Given the description of an element on the screen output the (x, y) to click on. 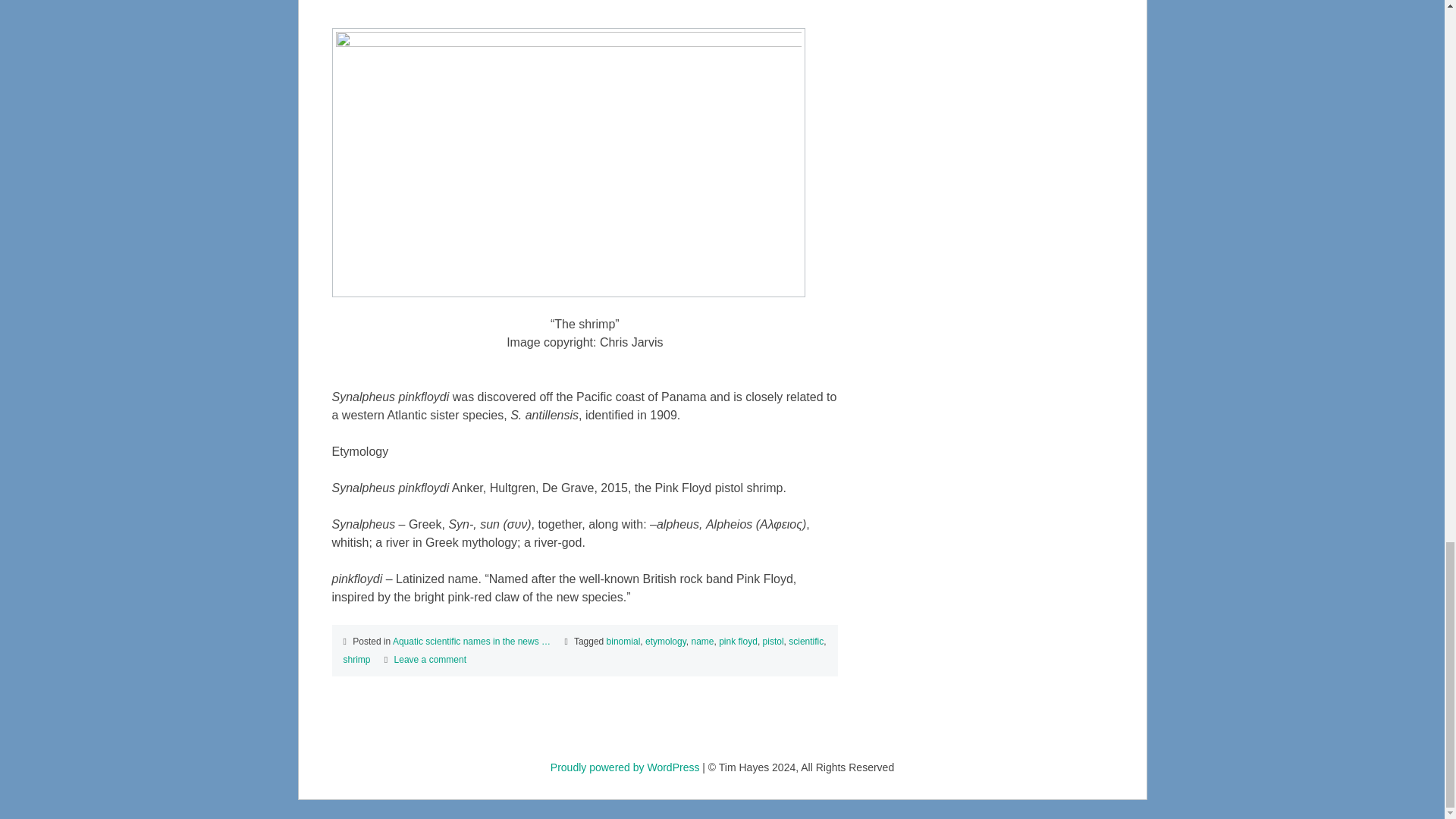
etymology (665, 641)
pistol (773, 641)
name (701, 641)
Leave a comment (429, 659)
scientific (806, 641)
pink floyd (738, 641)
shrimp (355, 659)
binomial (623, 641)
Proudly powered by WordPress (625, 767)
